Given the description of an element on the screen output the (x, y) to click on. 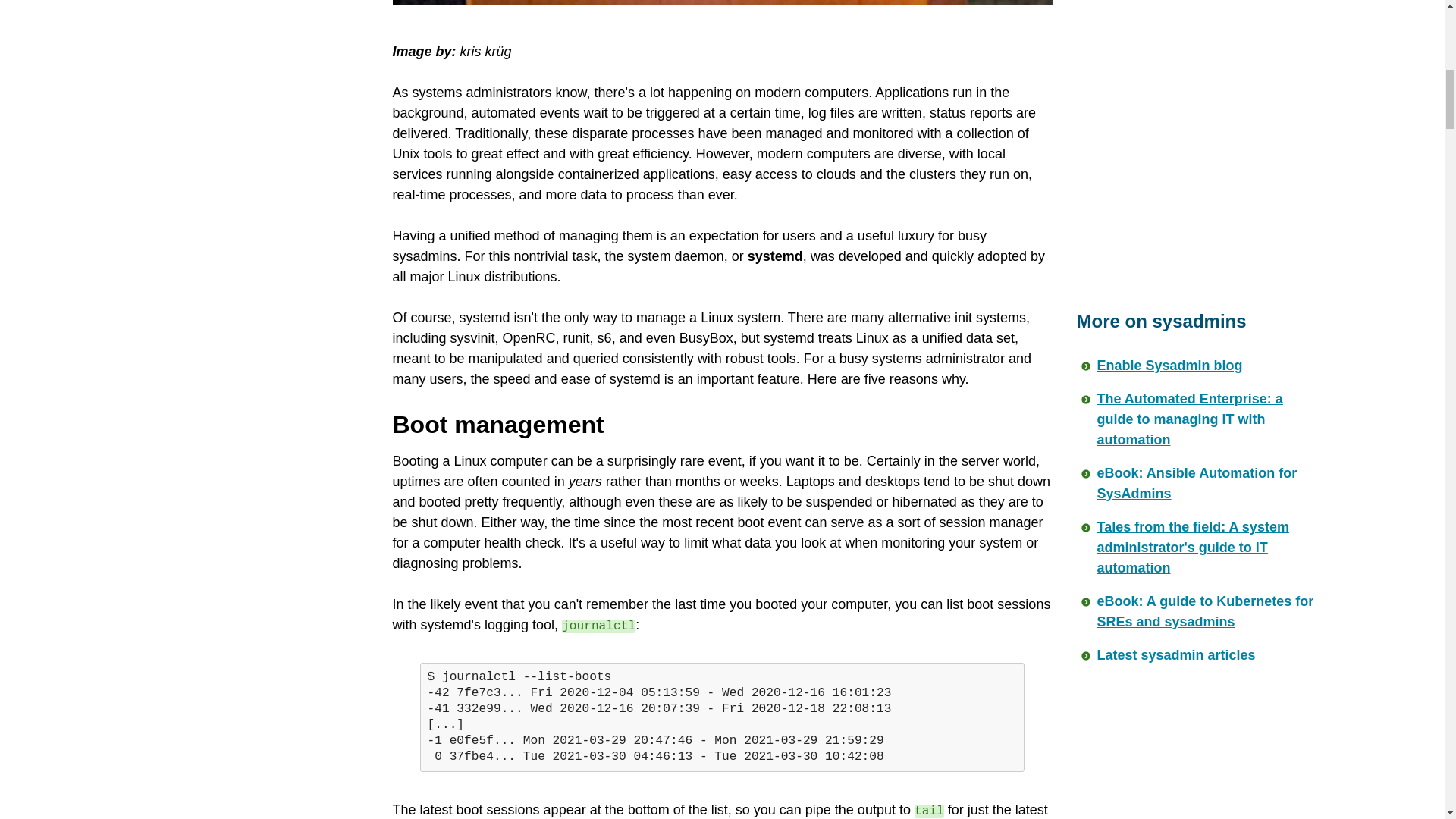
Enable Sysadmin blog (1168, 365)
SKIP TO CONTENT (936, 389)
eBook: Ansible Automation for SysAdmins (1196, 483)
